Given the description of an element on the screen output the (x, y) to click on. 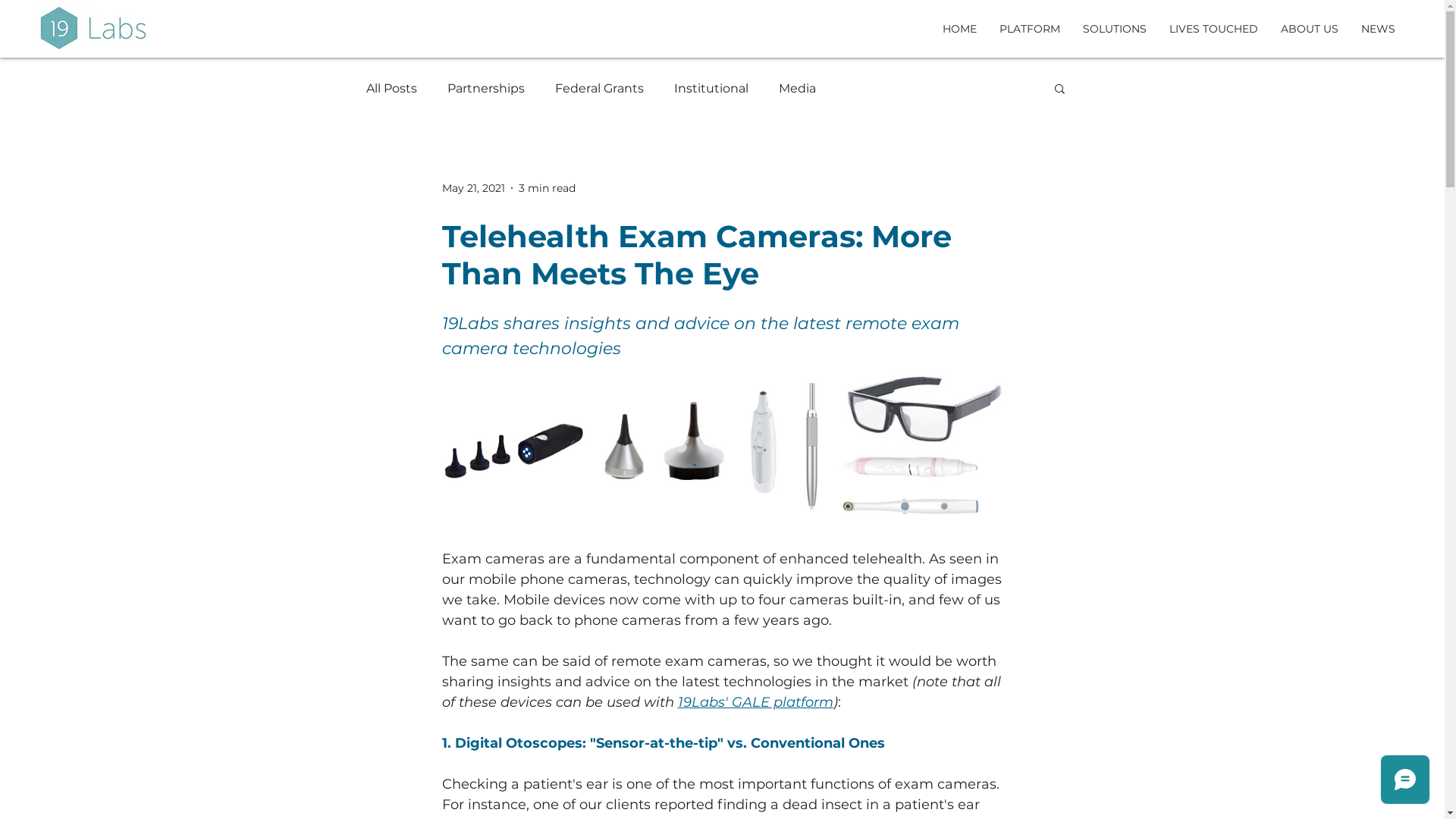
ABOUT US Element type: text (1309, 29)
Federal Grants Element type: text (599, 87)
All Posts Element type: text (390, 87)
NEWS Element type: text (1377, 29)
19Labs' GALE platform Element type: text (755, 701)
Media Element type: text (796, 87)
HOME Element type: text (959, 29)
LIVES TOUCHED Element type: text (1213, 29)
Partnerships Element type: text (485, 87)
Institutional Element type: text (710, 87)
PLATFORM Element type: text (1029, 29)
SOLUTIONS Element type: text (1114, 29)
